Given the description of an element on the screen output the (x, y) to click on. 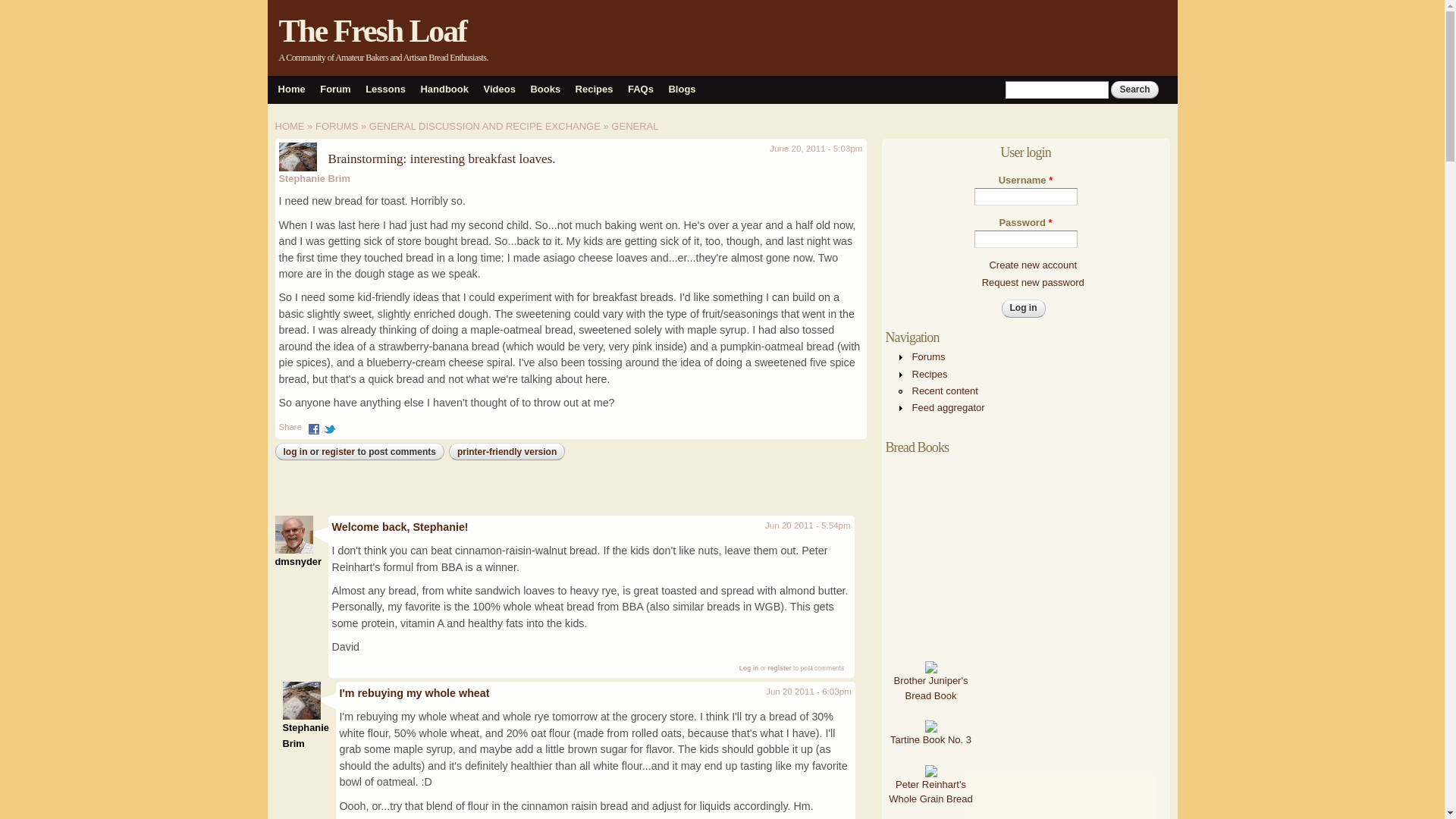
Share this on Twitter (329, 426)
dmsnyder's picture (294, 534)
Share on Facebook (313, 426)
FAQs (640, 89)
register (338, 451)
Search (1133, 89)
printer-friendly version (506, 451)
Search (1133, 89)
HOME (289, 125)
Stephanie Brim's picture (301, 700)
Enter the terms you wish to search for. (1057, 89)
Display a printer-friendly version of this page. (506, 451)
Stephanie Brim's picture (298, 156)
Forum (335, 89)
FORUMS (336, 125)
